Given the description of an element on the screen output the (x, y) to click on. 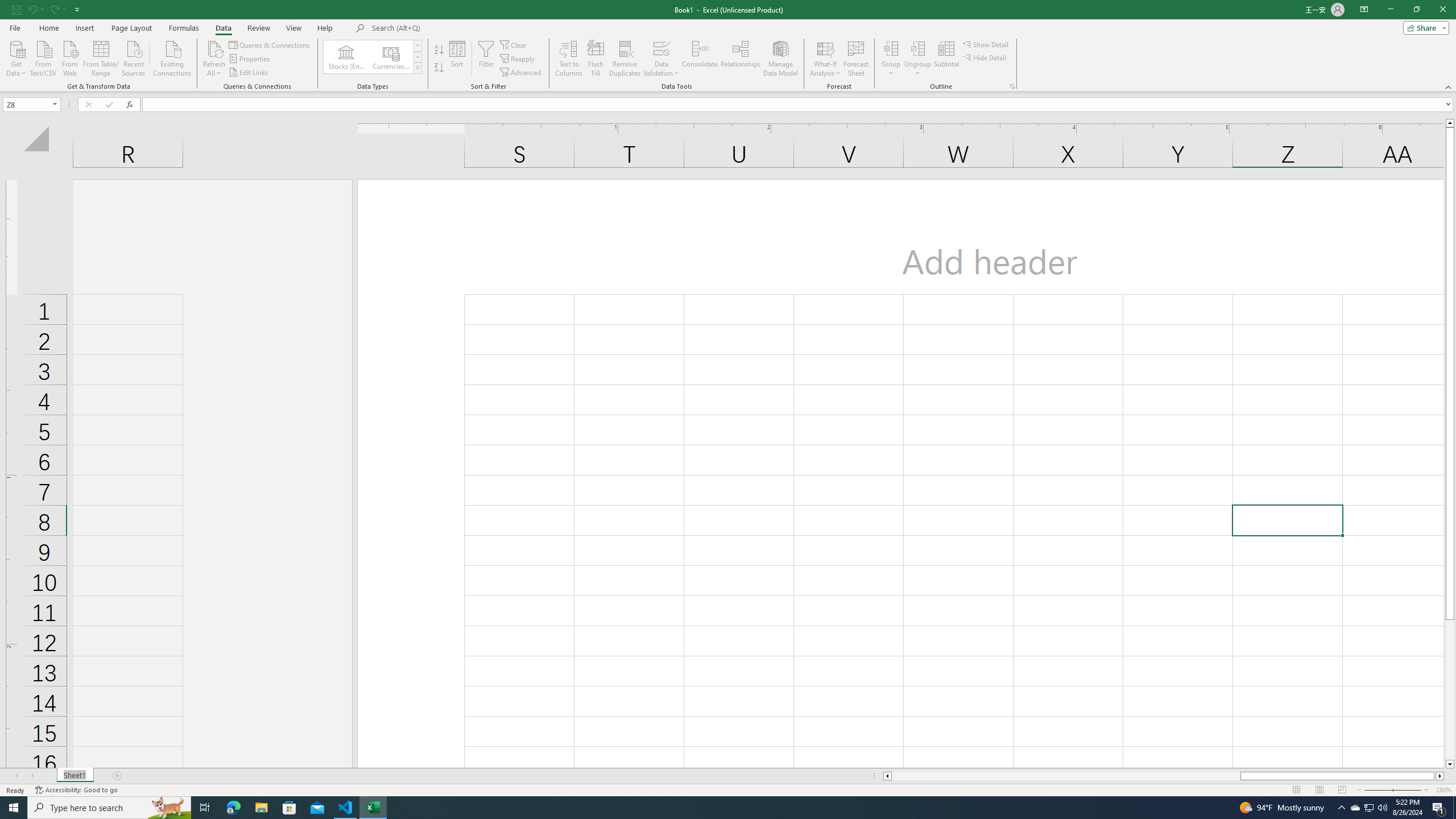
Quick Access Toolbar (46, 9)
Show Detail (985, 44)
Zoom In (1426, 790)
Group and Outline Settings (1011, 85)
Insert (83, 28)
Get Data (16, 57)
Scroll Left (16, 775)
Help (325, 28)
Ribbon Display Options (1364, 9)
Sort A to Z (438, 49)
Row up (417, 45)
Stocks (English) (346, 56)
Forecast Sheet (856, 58)
Sheet1 (74, 775)
